Given the description of an element on the screen output the (x, y) to click on. 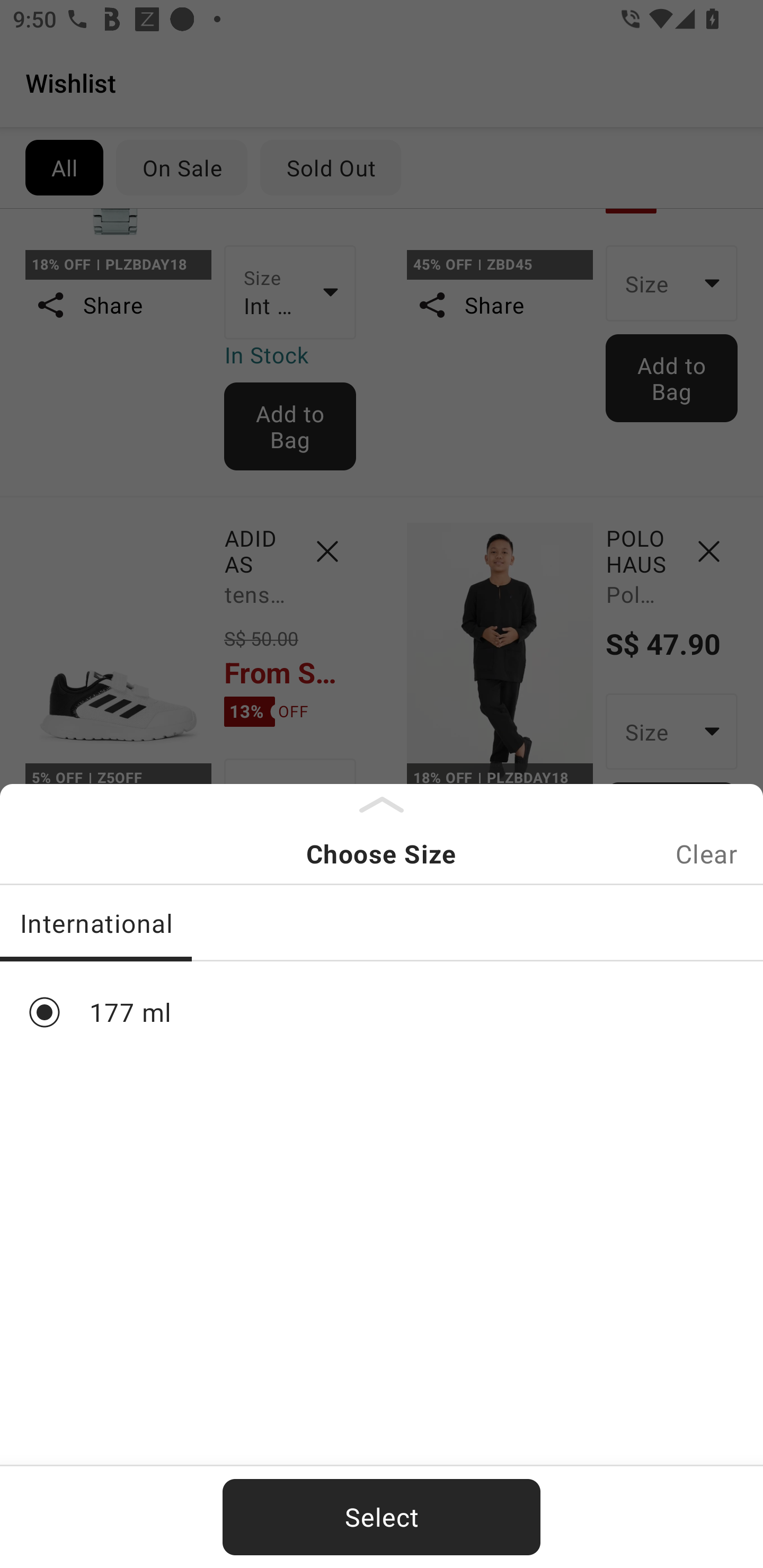
Clear (706, 852)
177 ml (381, 1011)
Select (381, 1516)
